Given the description of an element on the screen output the (x, y) to click on. 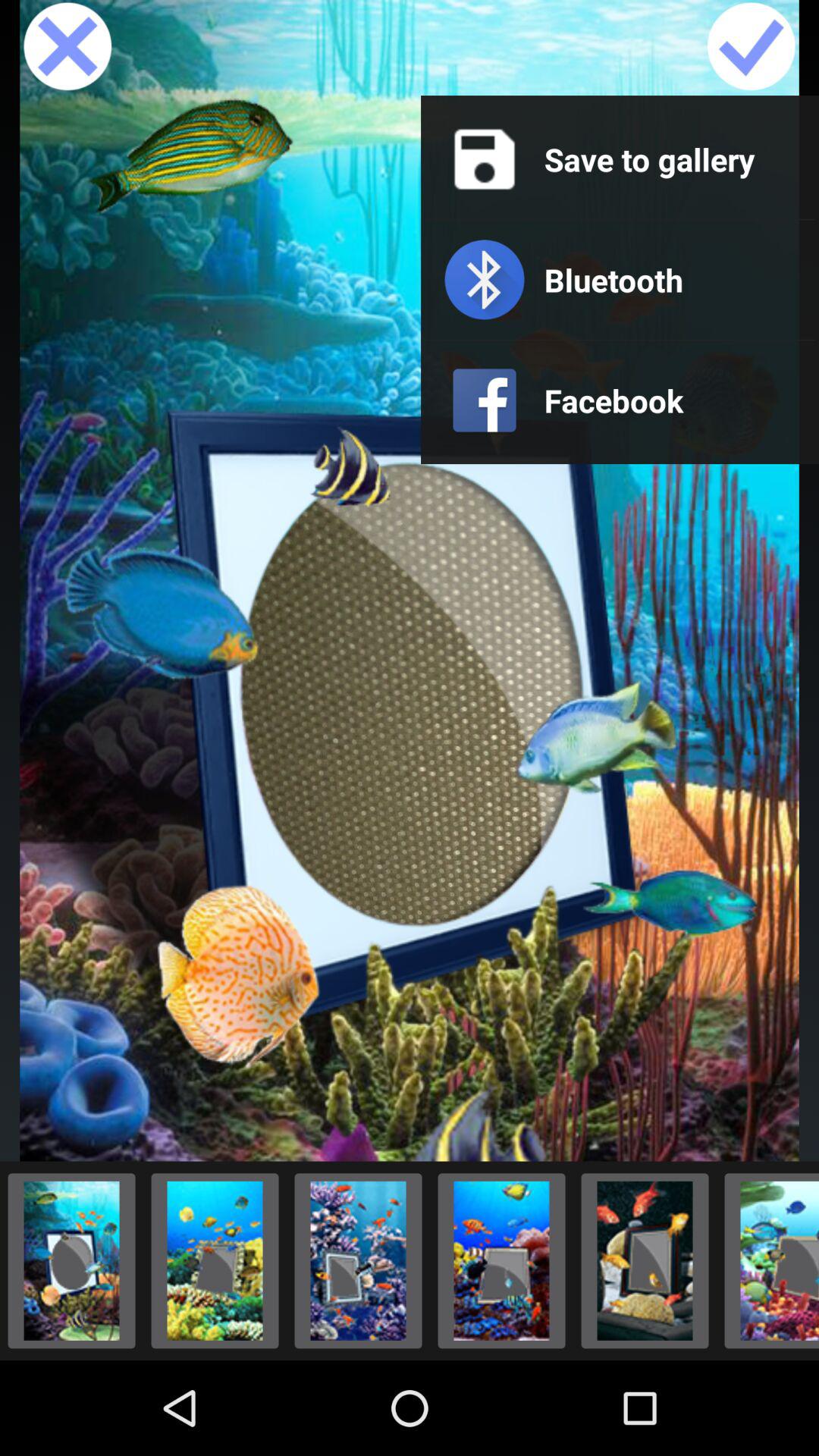
choose this photo (767, 1260)
